Given the description of an element on the screen output the (x, y) to click on. 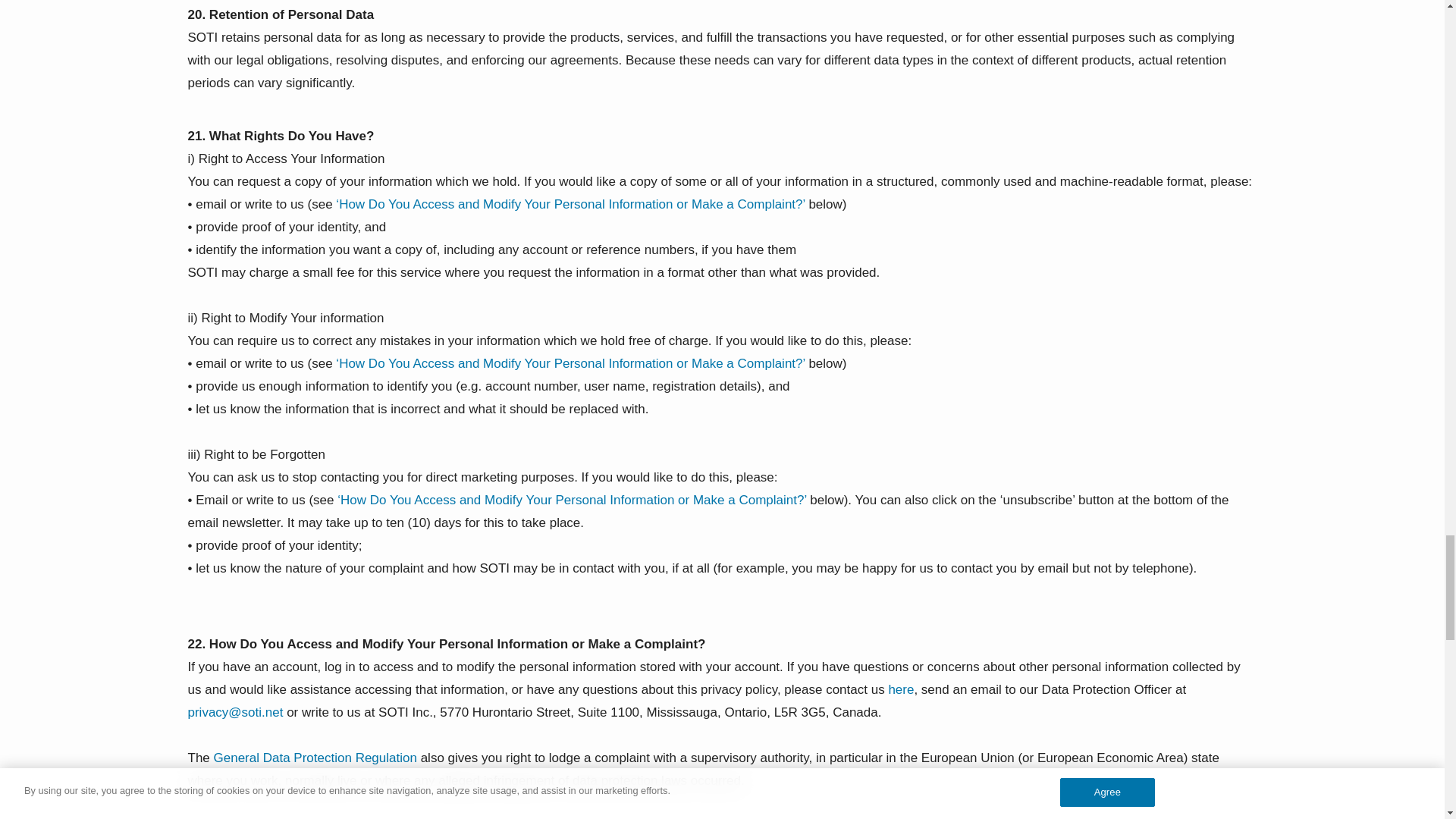
Privacy Request (901, 689)
